Given the description of an element on the screen output the (x, y) to click on. 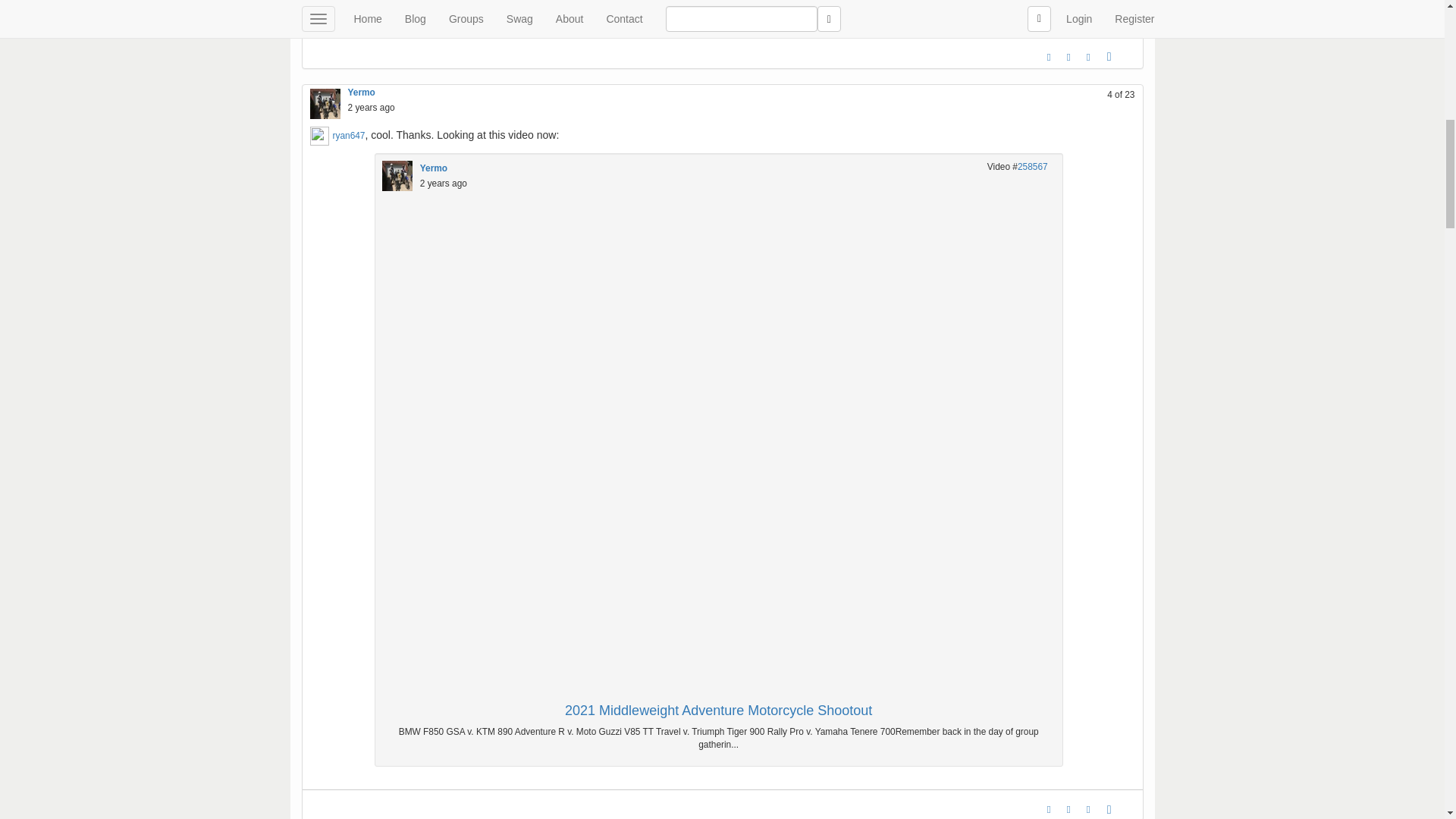
Tag (1068, 56)
Tag (1068, 808)
Share (1109, 808)
Where this has been mentioned (1088, 56)
Where this has been mentioned (1088, 808)
Share (1109, 56)
